Given the description of an element on the screen output the (x, y) to click on. 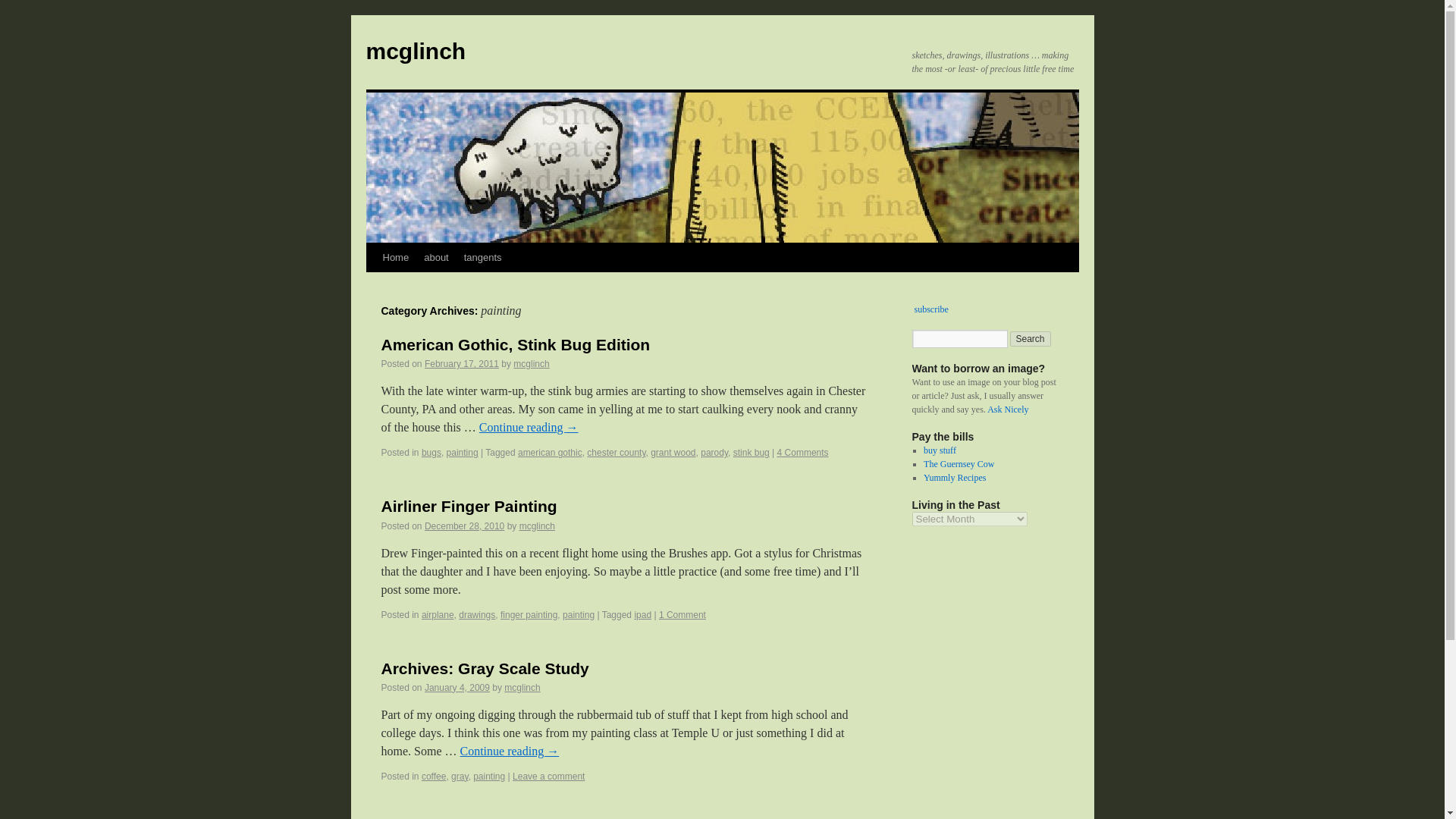
about (436, 257)
10:59 pm (464, 525)
American Gothic, Stink Bug Edition (514, 343)
chester county (615, 452)
December 28, 2010 (464, 525)
airplane (438, 614)
11:08 pm (462, 363)
drawings (476, 614)
parody (714, 452)
Airliner Finger Painting (468, 506)
